Given the description of an element on the screen output the (x, y) to click on. 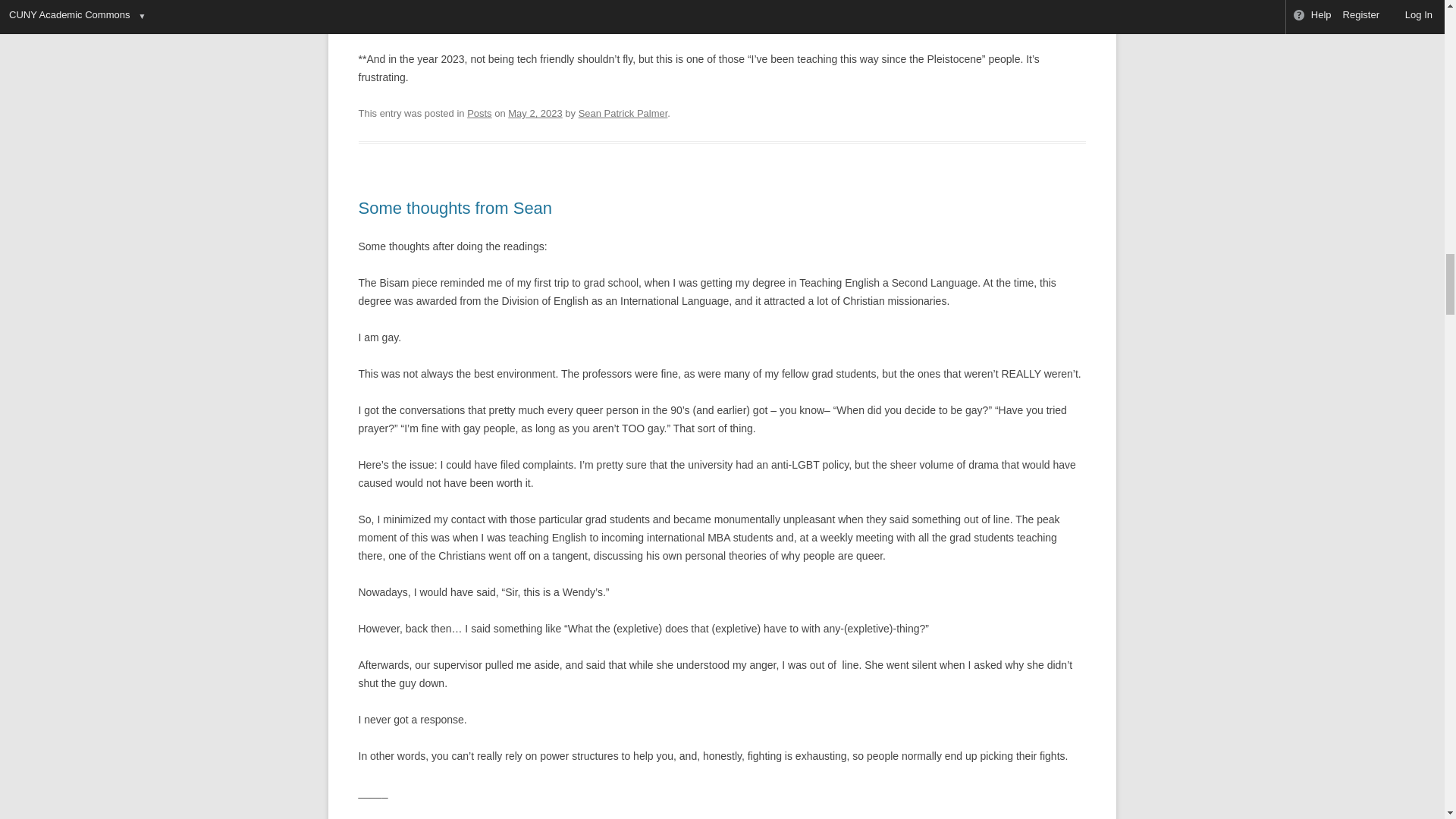
Some thoughts from Sean (454, 208)
Sean Patrick Palmer (623, 112)
May 2, 2023 (535, 112)
Posts (479, 112)
